Given the description of an element on the screen output the (x, y) to click on. 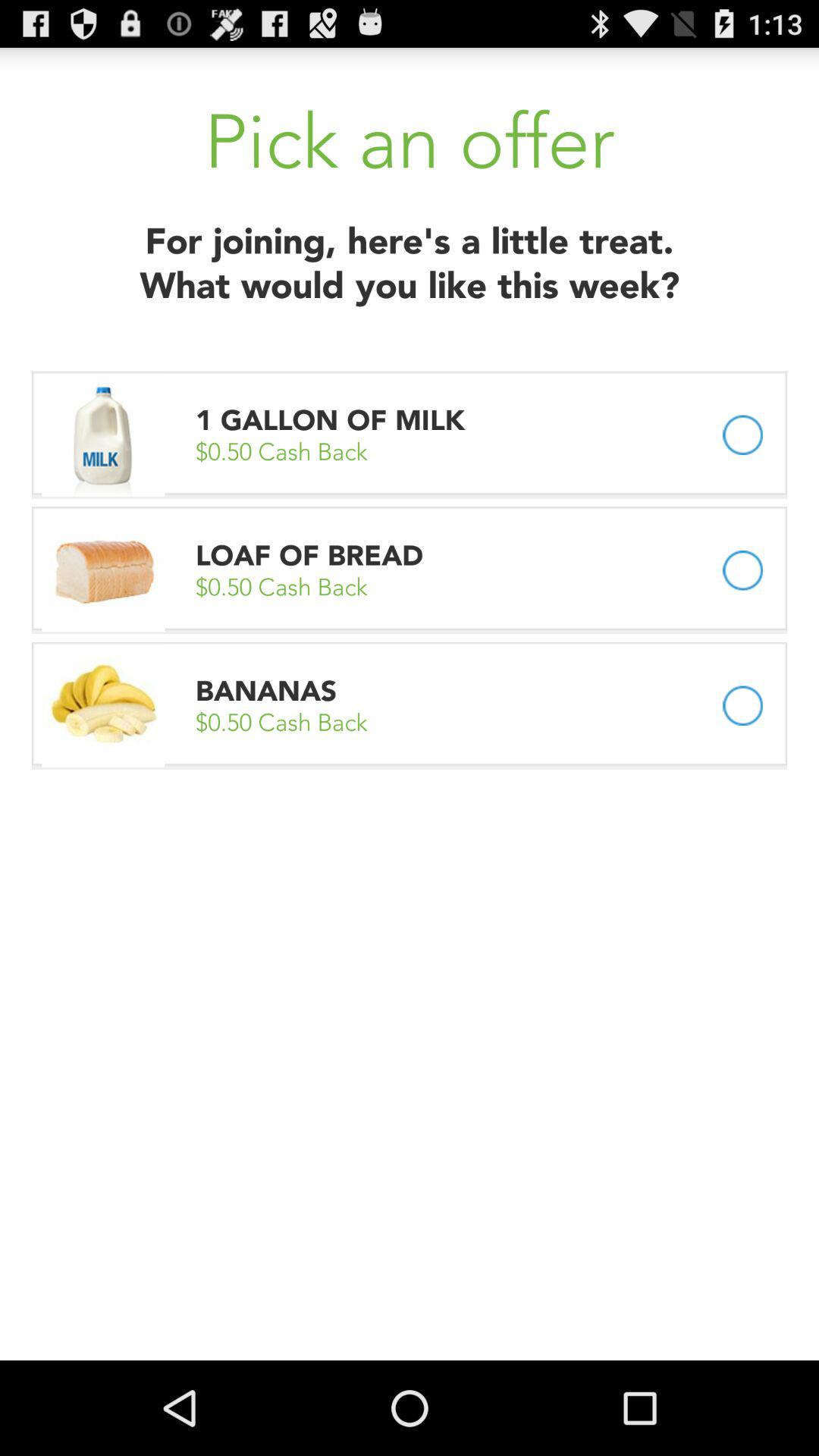
turn off the app below the 0 50 cash (309, 555)
